Given the description of an element on the screen output the (x, y) to click on. 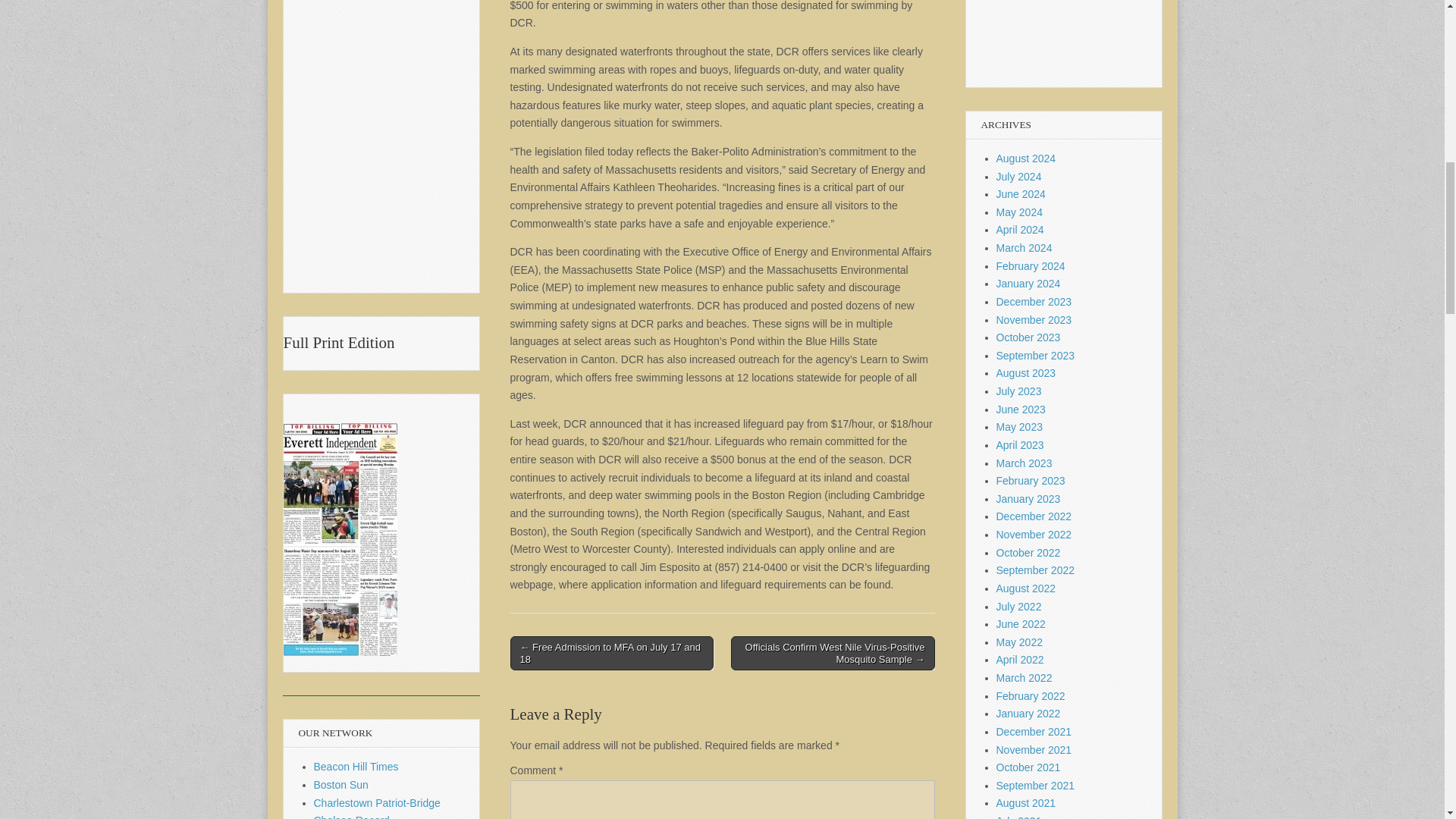
Boston Sun (341, 784)
Charlestown Patriot-Bridge (377, 802)
Beacon Hill Times (356, 766)
Chelsea Record (352, 816)
